Given the description of an element on the screen output the (x, y) to click on. 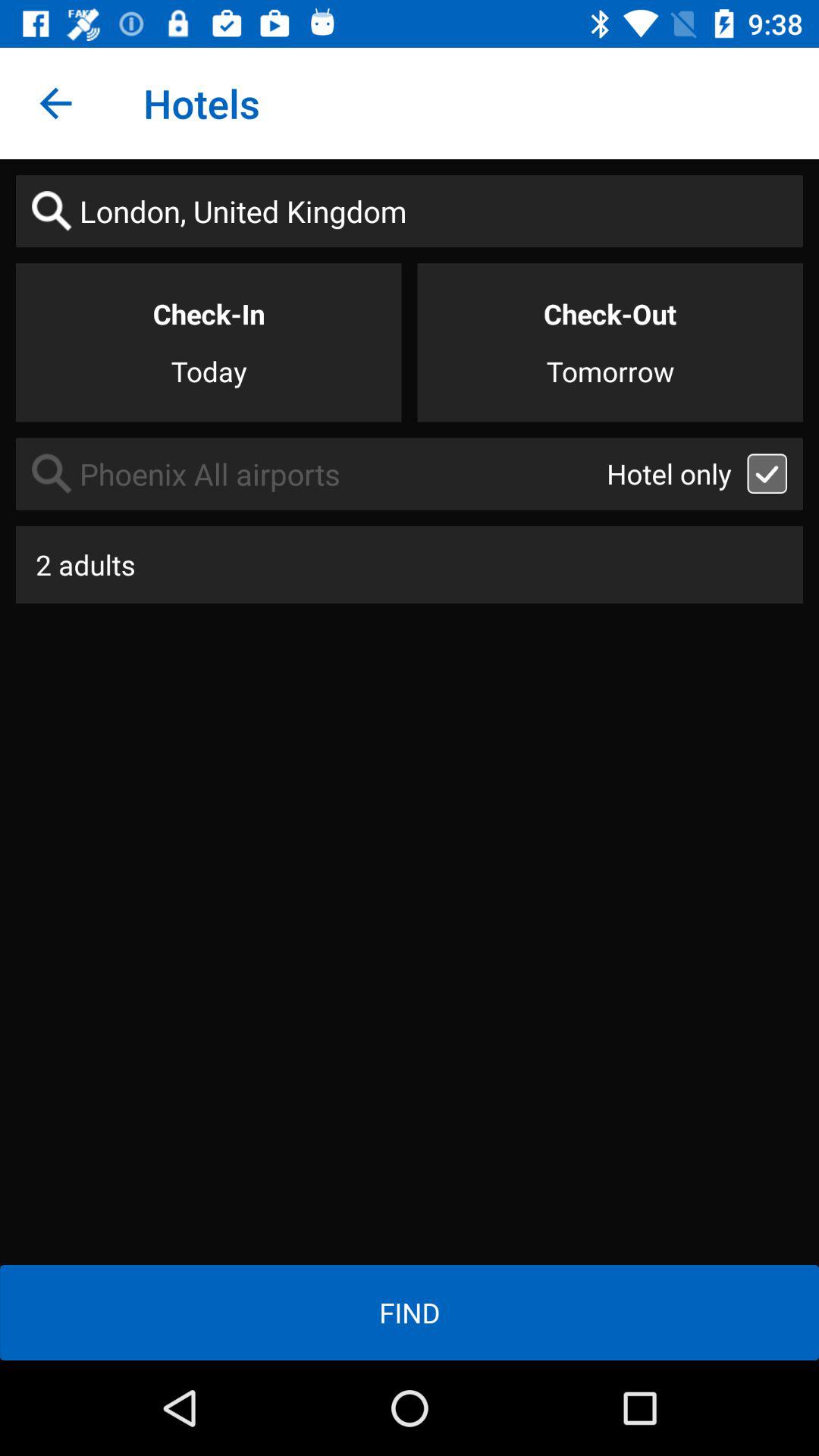
press item below 2 adults icon (409, 1312)
